Given the description of an element on the screen output the (x, y) to click on. 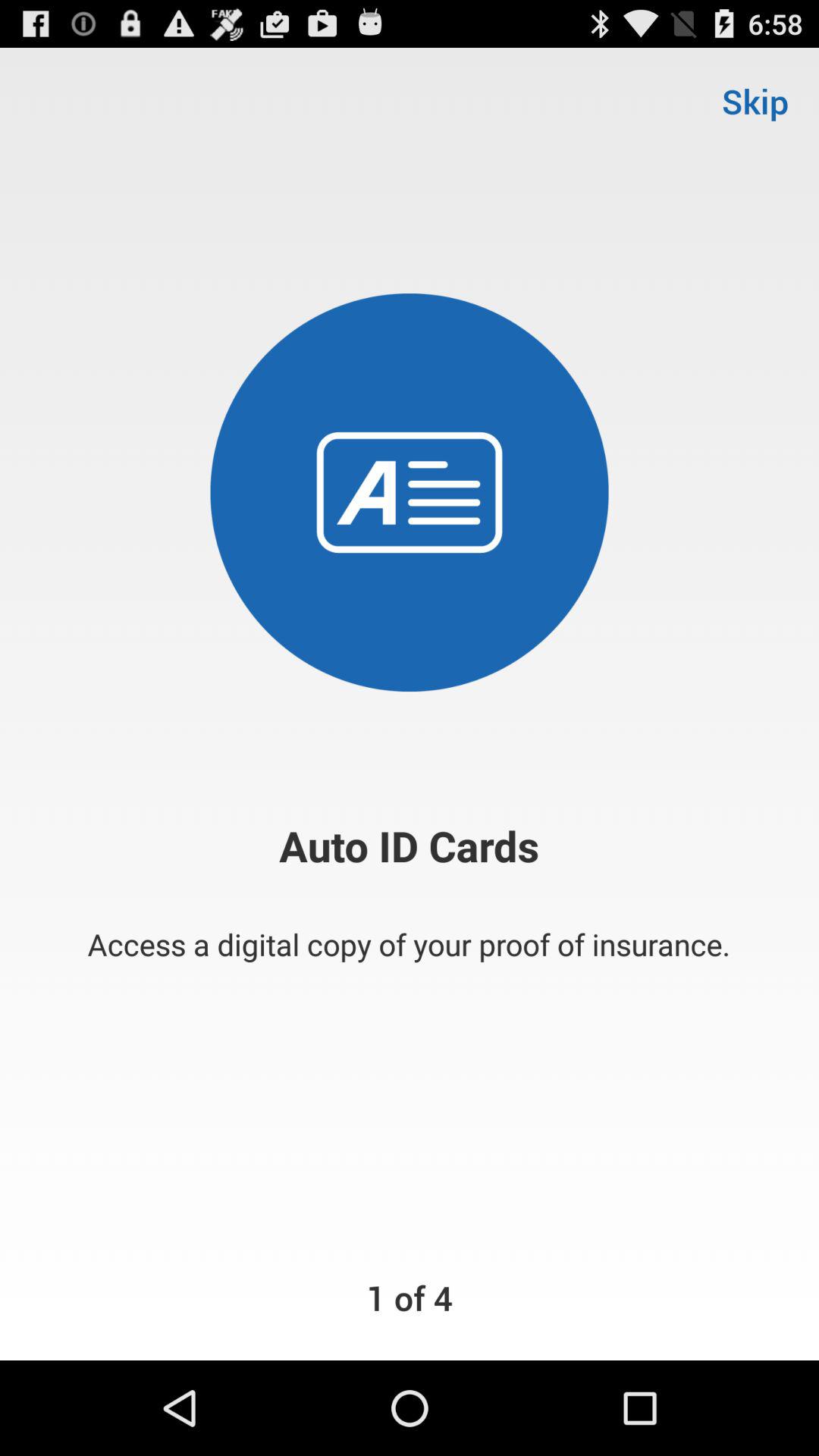
jump until the skip app (754, 100)
